Given the description of an element on the screen output the (x, y) to click on. 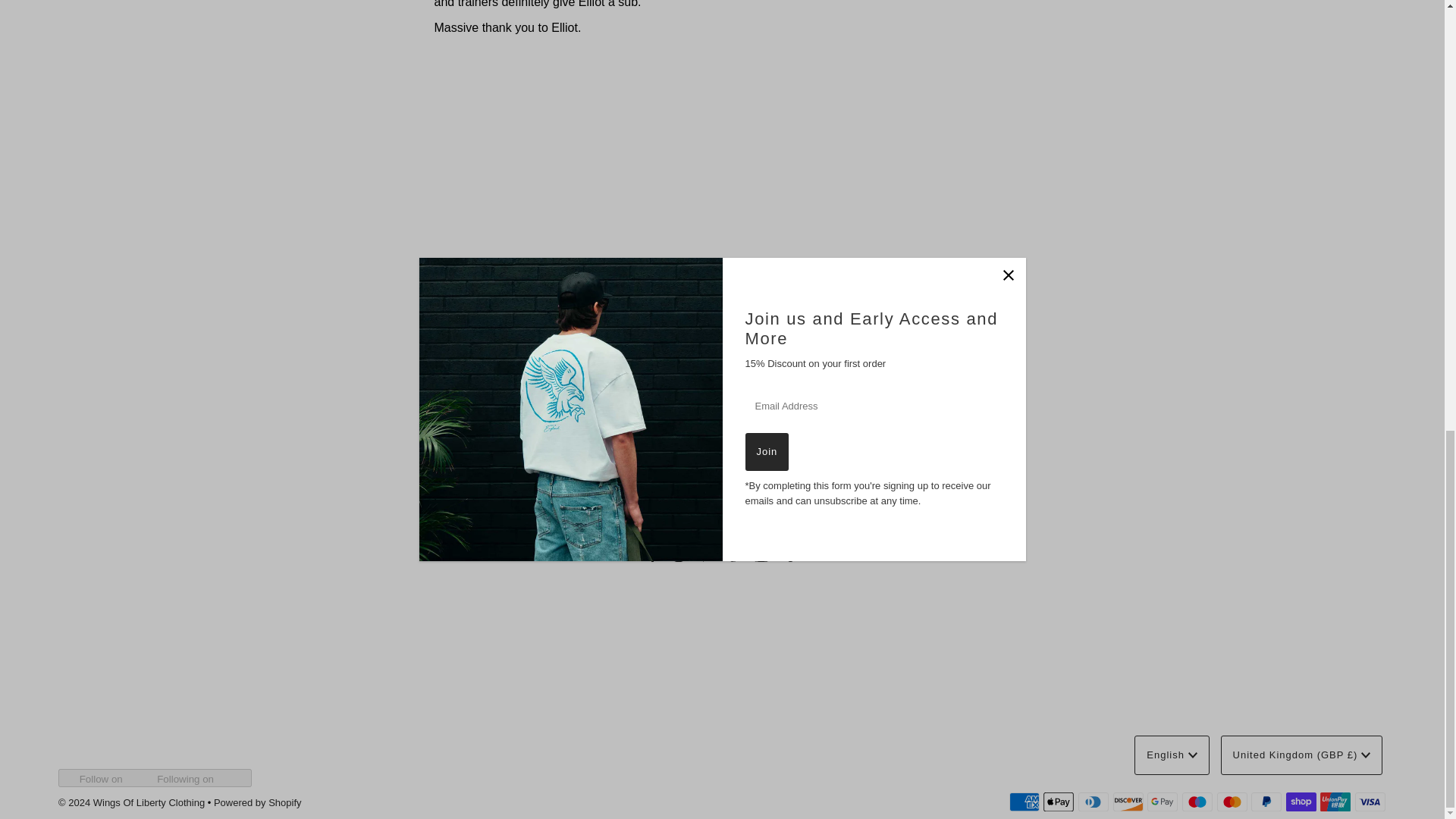
Apple Pay (1058, 801)
American Express (1024, 801)
